Given the description of an element on the screen output the (x, y) to click on. 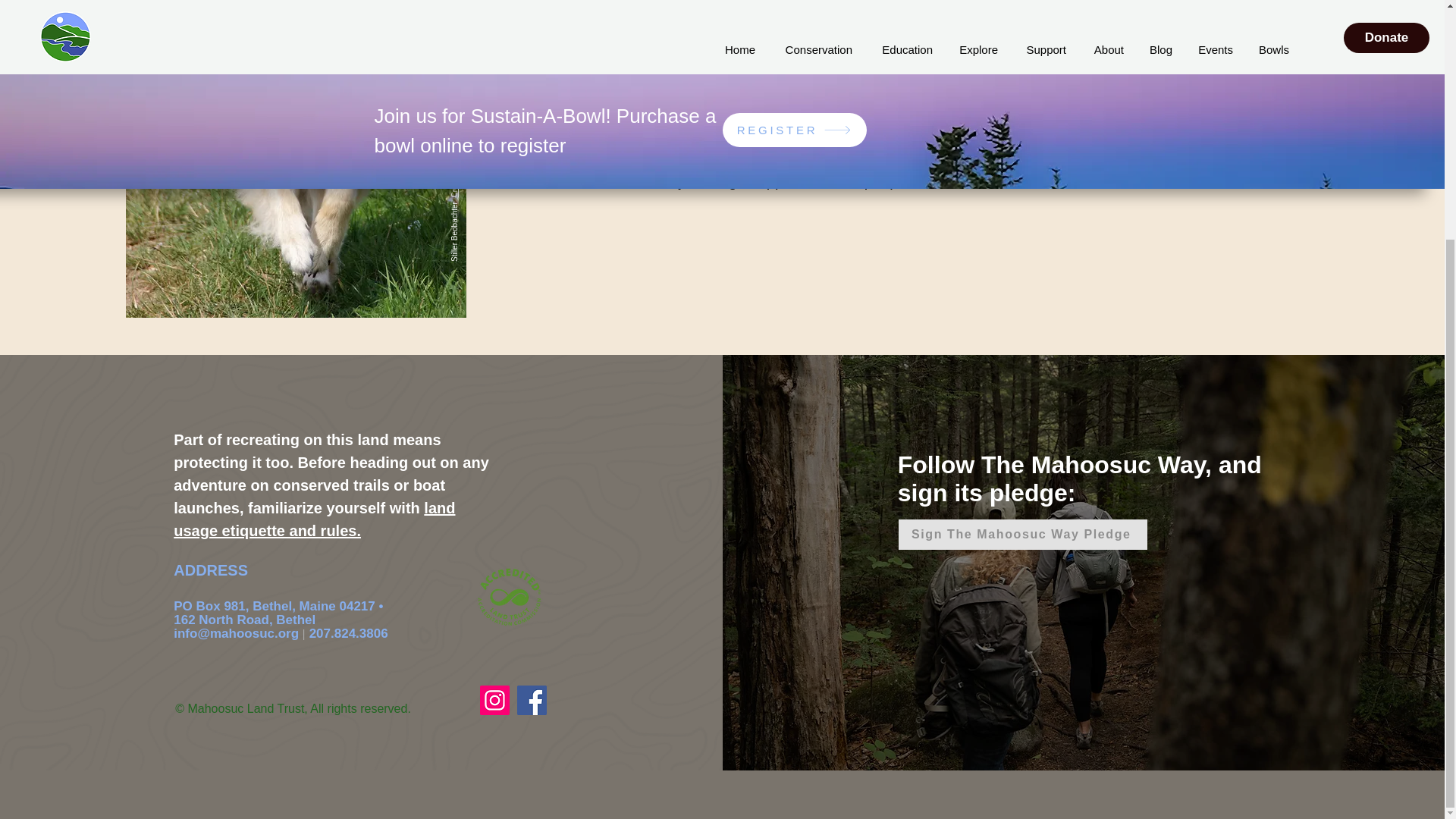
Attribution 2.0 Generic (480, 61)
Creative Commons (482, 136)
land usage etiquette and rules. (313, 518)
Sign The Mahoosuc Way Pledge (1022, 534)
